Given the description of an element on the screen output the (x, y) to click on. 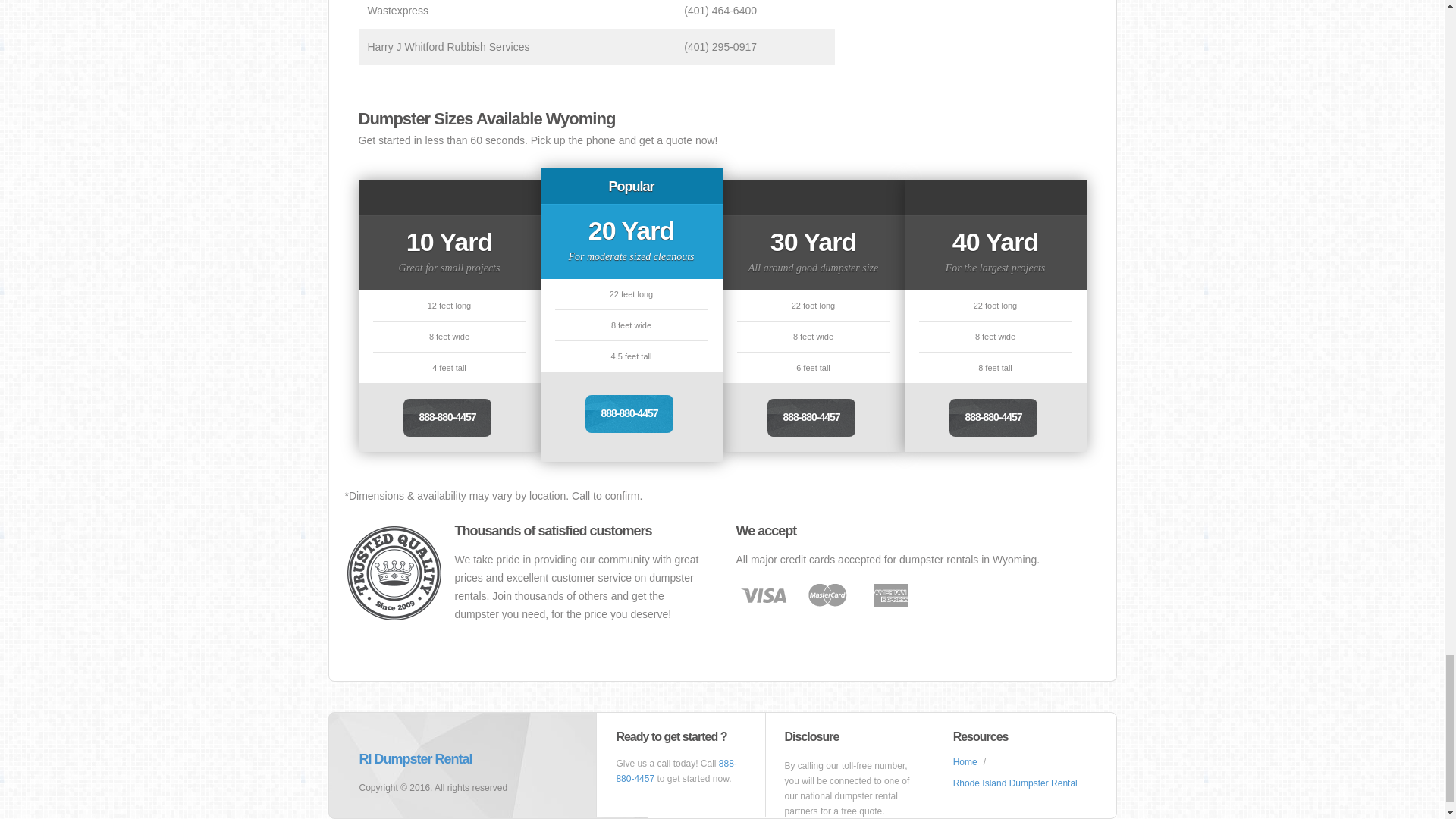
888-880-4457 (628, 413)
888-880-4457 (992, 417)
Home (964, 761)
888-880-4457 (446, 417)
888-880-4457 (810, 417)
RI Dumpster Rental (415, 758)
Rhode Island Dumpster Rental (1015, 783)
